Given the description of an element on the screen output the (x, y) to click on. 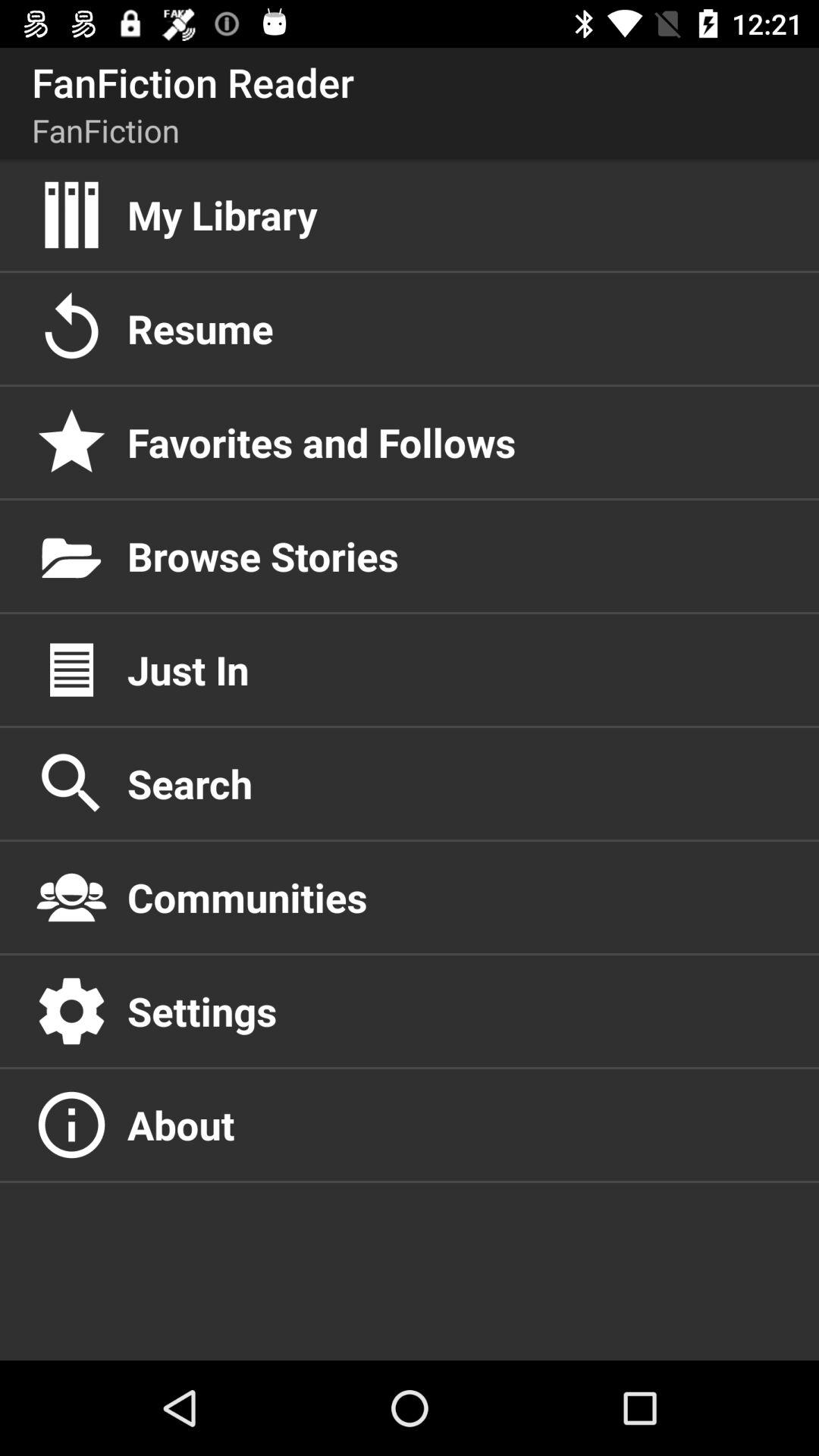
press the favorites and follows icon (457, 442)
